Given the description of an element on the screen output the (x, y) to click on. 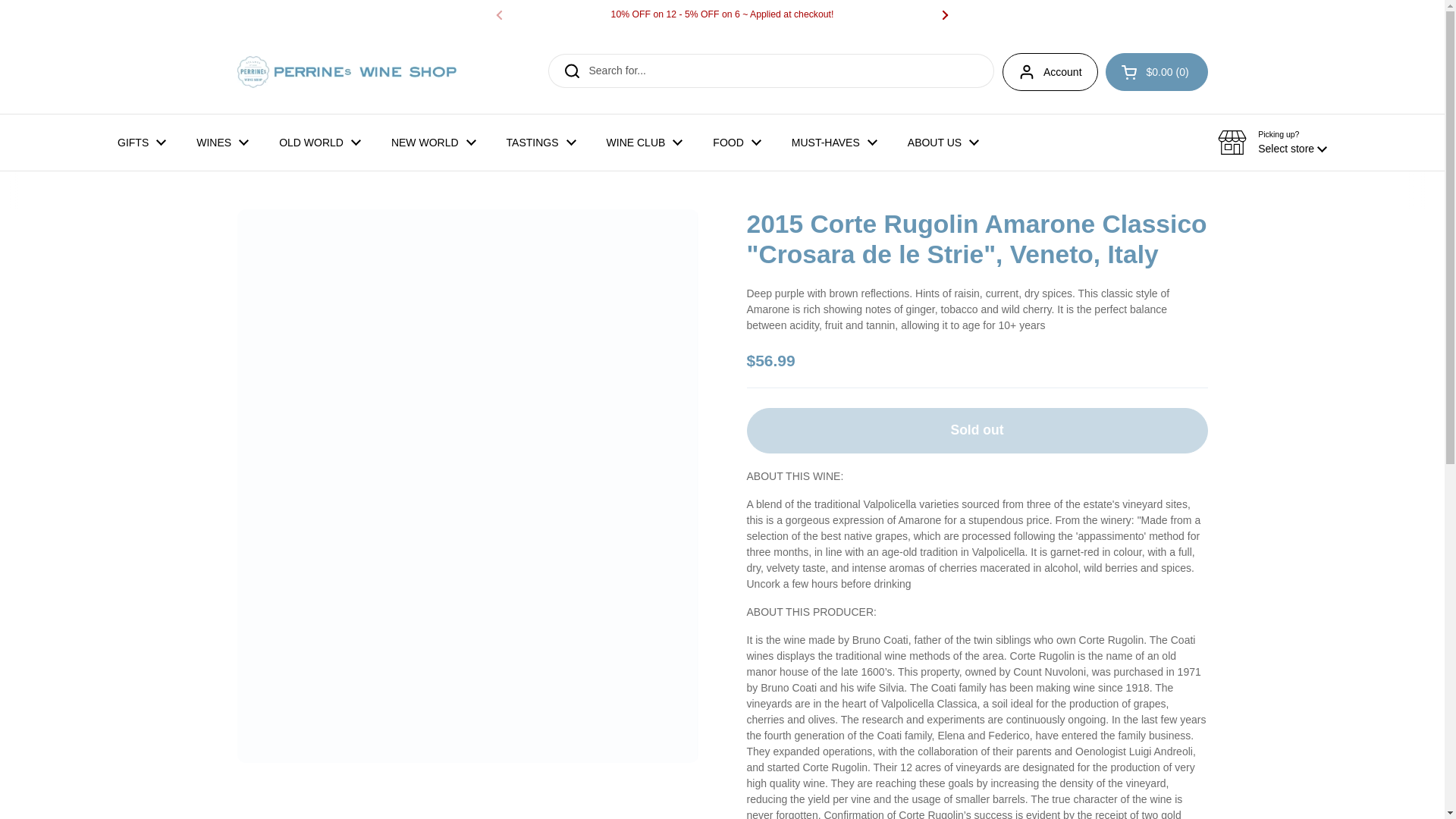
OLD WORLD (319, 142)
GIFTS (140, 142)
WINES (221, 142)
Account (1050, 71)
WINES (221, 142)
Open cart (1156, 71)
GIFTS (140, 142)
PERRINE's WINE SHOP (345, 71)
